Given the description of an element on the screen output the (x, y) to click on. 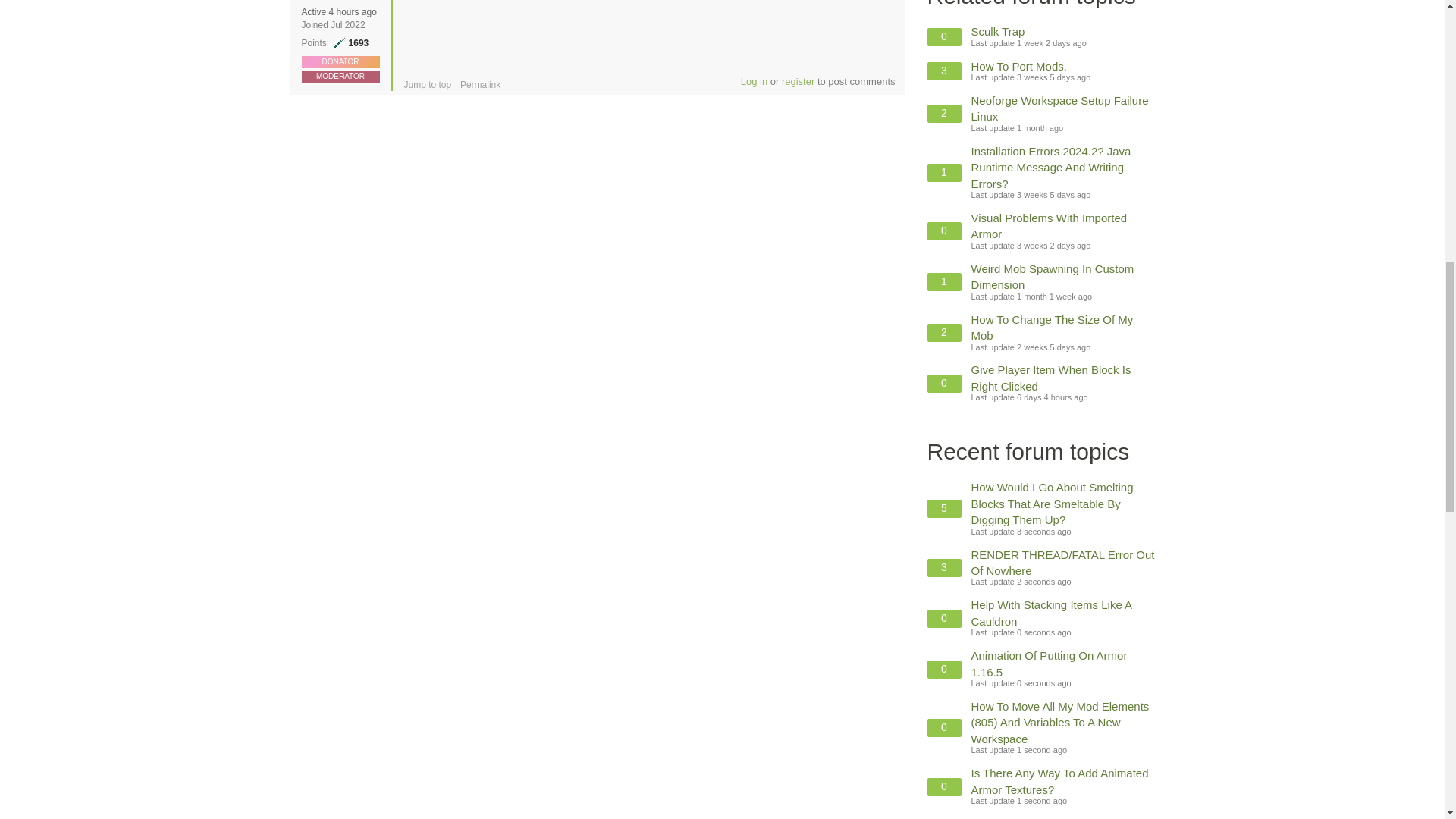
Log in (754, 81)
MODERATOR (340, 76)
Neoforge Workspace Setup Failure Linux (1059, 108)
DONATOR (339, 61)
Jump to top (427, 84)
Permalink (480, 84)
Jump to top of page (427, 84)
Link to this comment (480, 84)
Sculk Trap (998, 31)
How To Port Mods. (1018, 65)
